Given the description of an element on the screen output the (x, y) to click on. 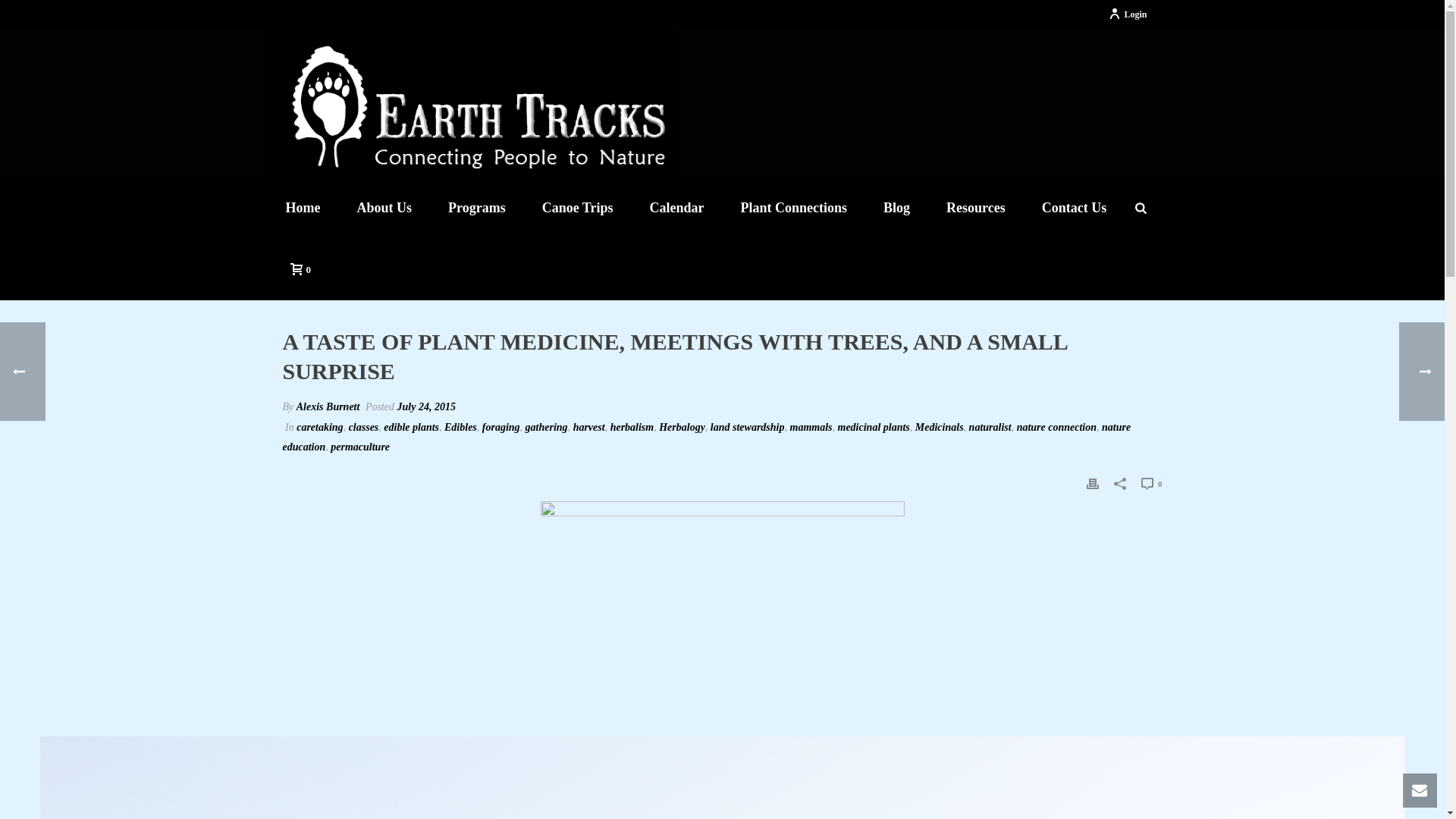
Plant Connections (793, 207)
Calendar (676, 207)
Earth Tracks (470, 102)
Resources (976, 207)
Contact Us (1074, 207)
About Us (383, 207)
About Us (383, 207)
Resources (976, 207)
Canoe Trips (577, 207)
Programs (476, 207)
